Given the description of an element on the screen output the (x, y) to click on. 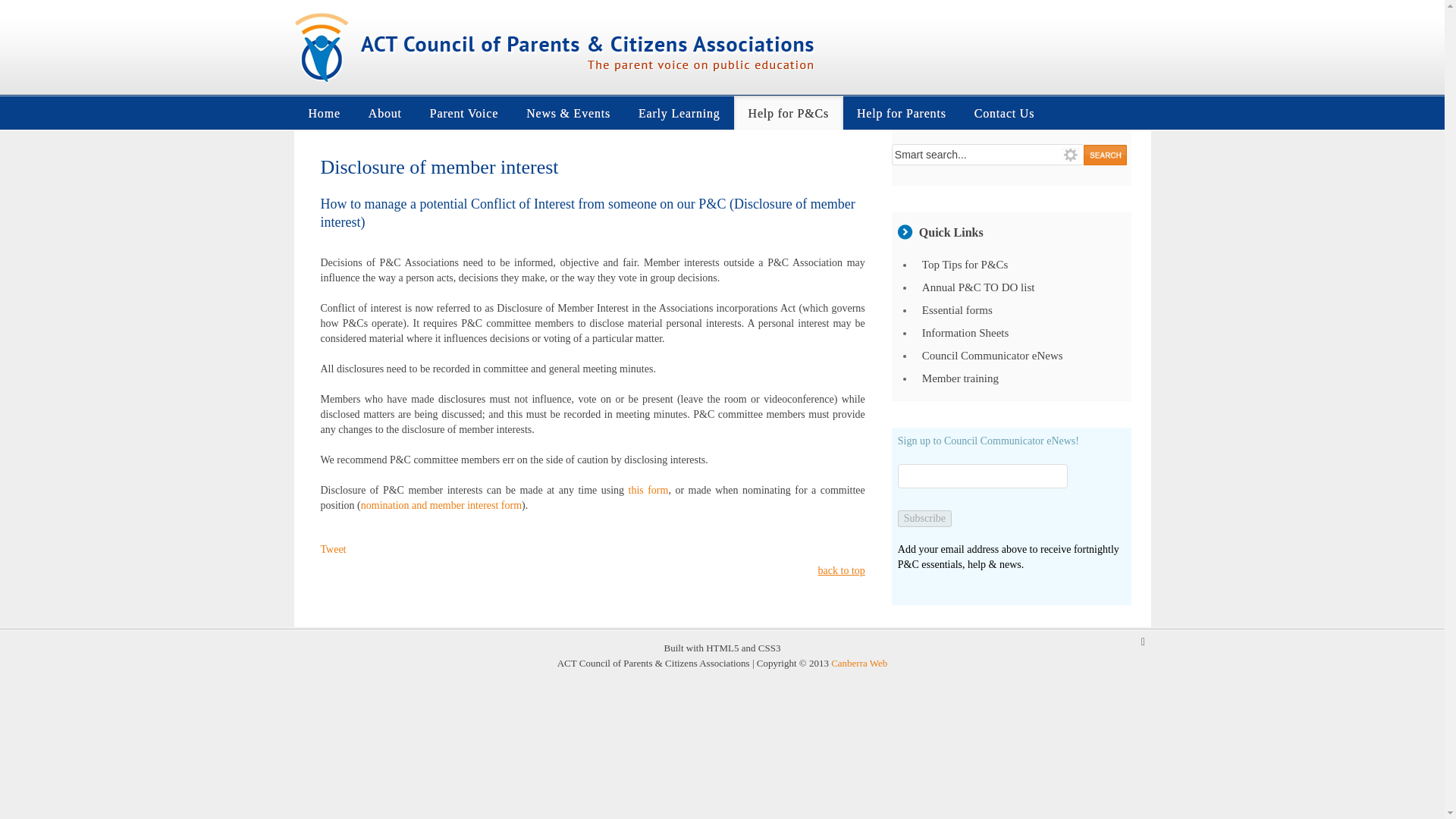
back to top (841, 570)
Smart search... (988, 154)
Early Learning (679, 112)
Parent Voice (463, 112)
nomination and member interest form (441, 505)
Smart search... (988, 154)
Subscribe (925, 518)
About (384, 112)
Contact Us (1004, 112)
this form (648, 490)
Canberra Web Designer (858, 663)
Help for Parents (901, 112)
Home (324, 112)
Tweet (333, 549)
